Given the description of an element on the screen output the (x, y) to click on. 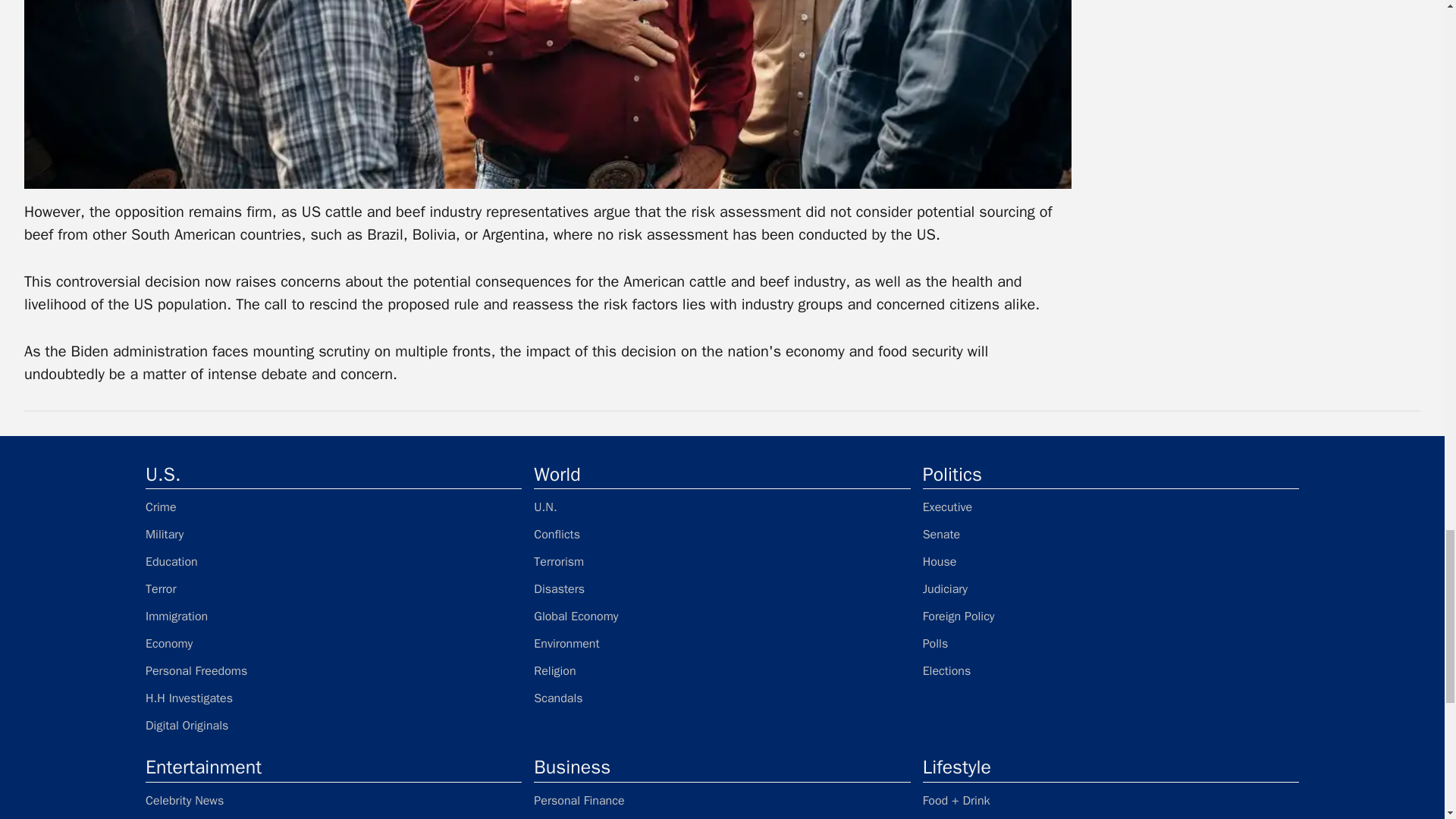
Conflicts (722, 534)
Global Economy (722, 616)
Terrorism (722, 561)
H.H Investigates (333, 698)
U.N. (722, 507)
Scandals (722, 698)
Crime (333, 507)
Disasters (722, 589)
Economy (333, 643)
Digital Originals (333, 725)
